Given the description of an element on the screen output the (x, y) to click on. 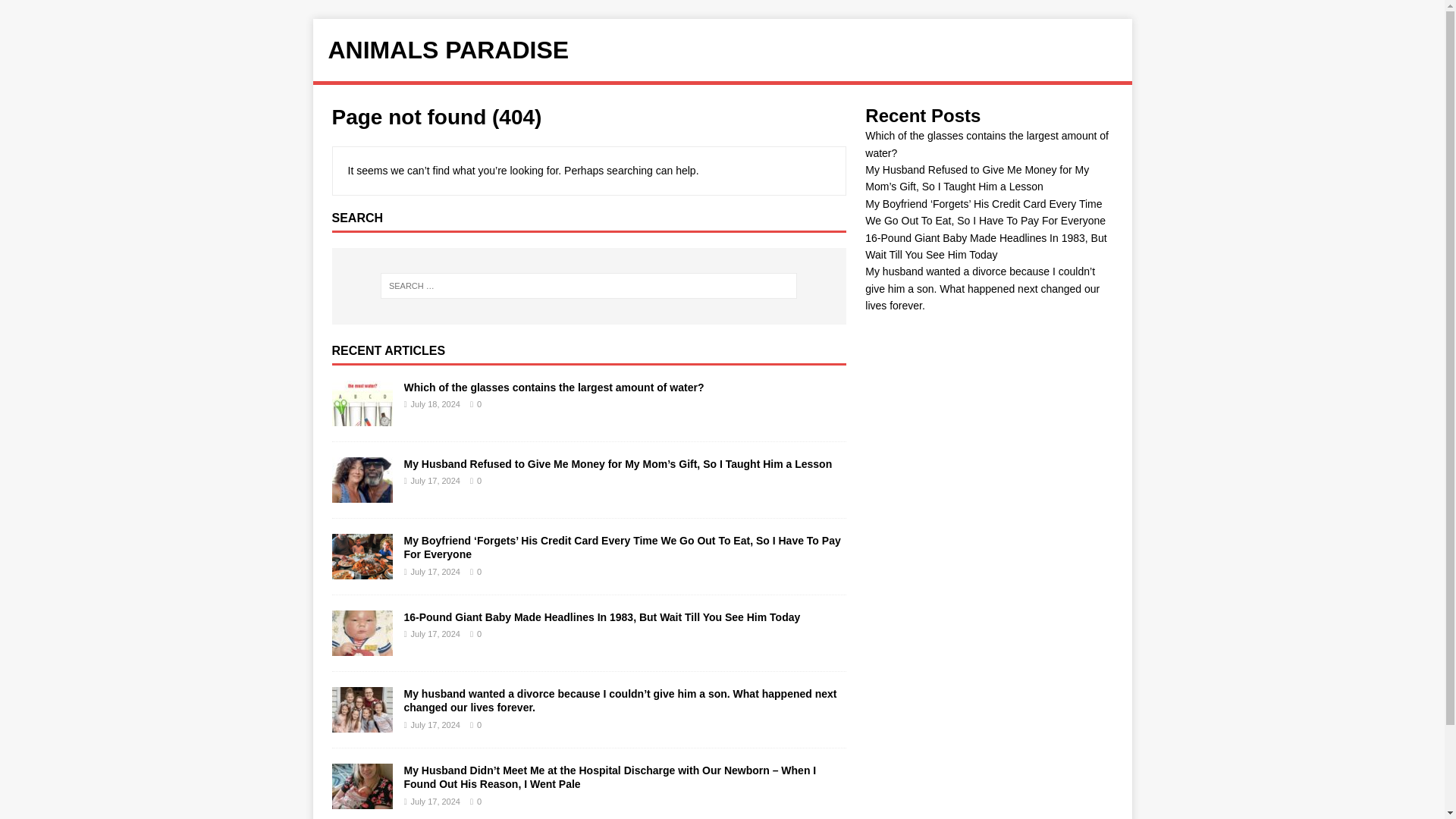
Search (56, 11)
ANIMALS PARADISE (721, 49)
Which of the glasses contains the largest amount of water? (553, 387)
Which of the glasses contains the largest amount of water? (986, 143)
Which of the glasses contains the largest amount of water? (362, 417)
Animals Paradise (721, 49)
Which of the glasses contains the largest amount of water? (553, 387)
